Given the description of an element on the screen output the (x, y) to click on. 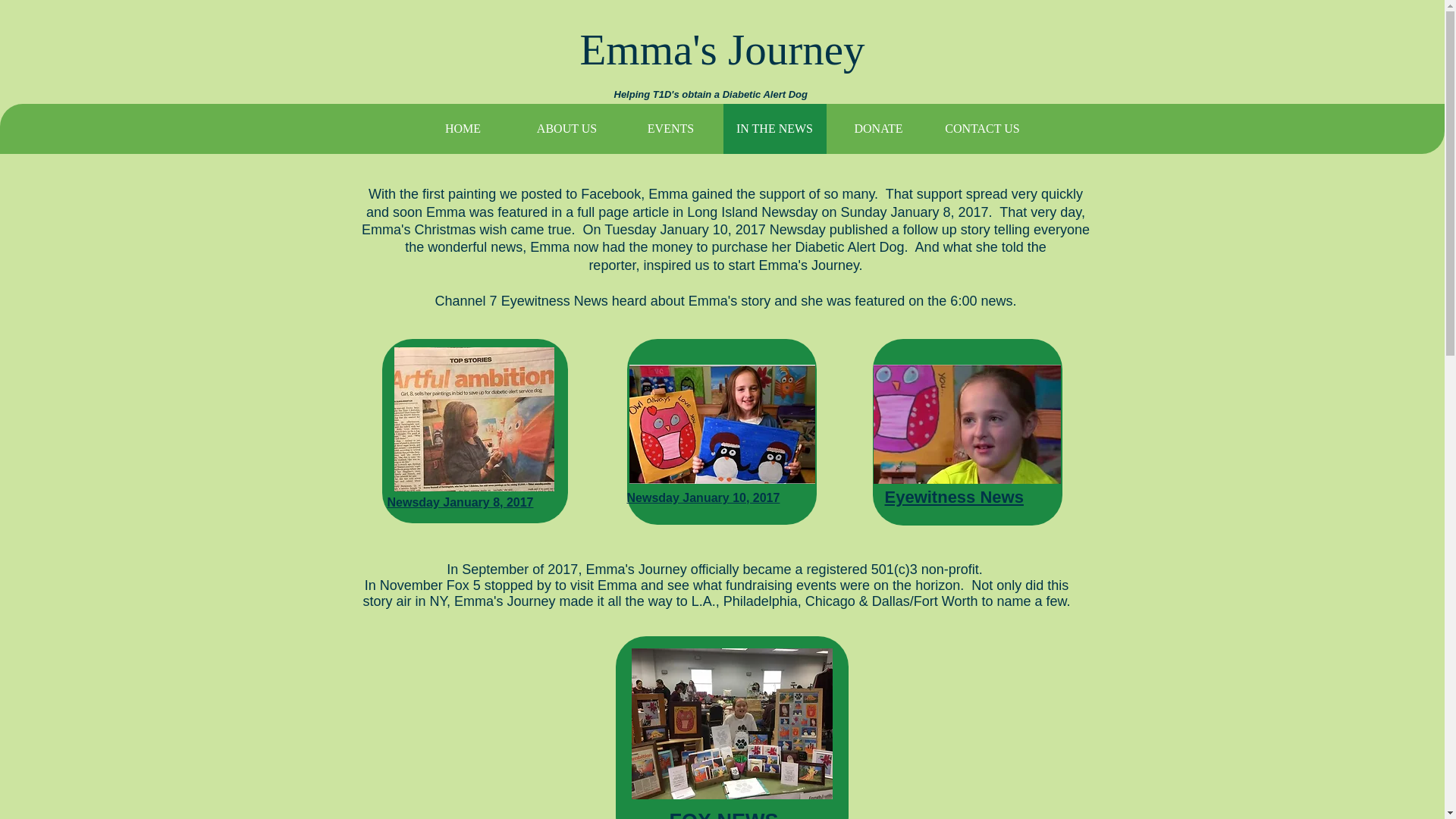
EVENTS (670, 128)
FOX NEWS (722, 814)
Newsday January 8, 2017 (459, 502)
Eyewitness News (953, 496)
Emma's Journey (721, 49)
DONATE (878, 128)
CONTACT US (981, 128)
IN THE NEWS (773, 128)
ABOUT US (565, 128)
HOME (462, 128)
Newsday January 10, 2017 (702, 497)
